Given the description of an element on the screen output the (x, y) to click on. 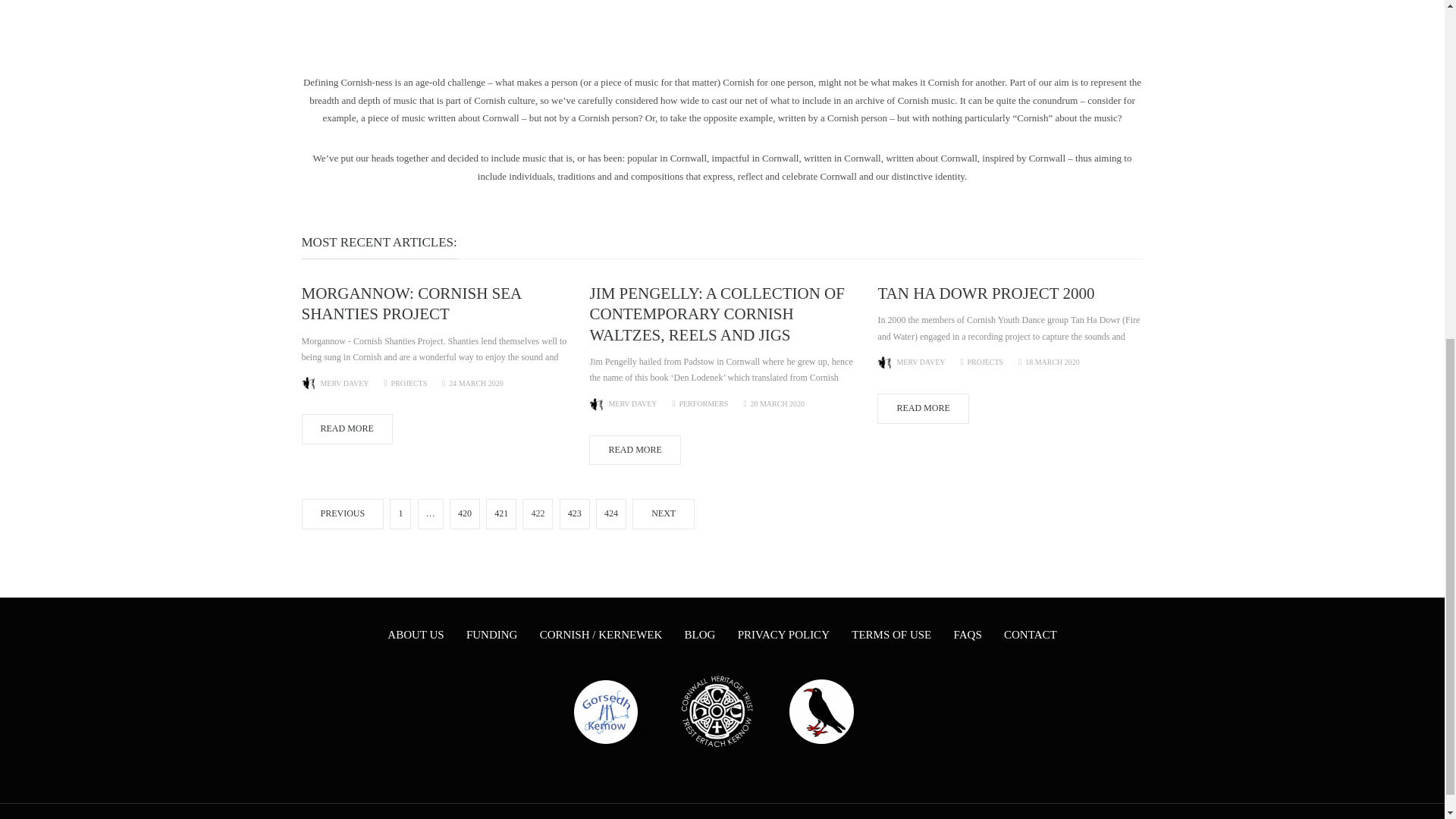
Read More (347, 429)
Morgannow: Cornish Sea Shanties Project (411, 303)
Projects (408, 383)
